Given the description of an element on the screen output the (x, y) to click on. 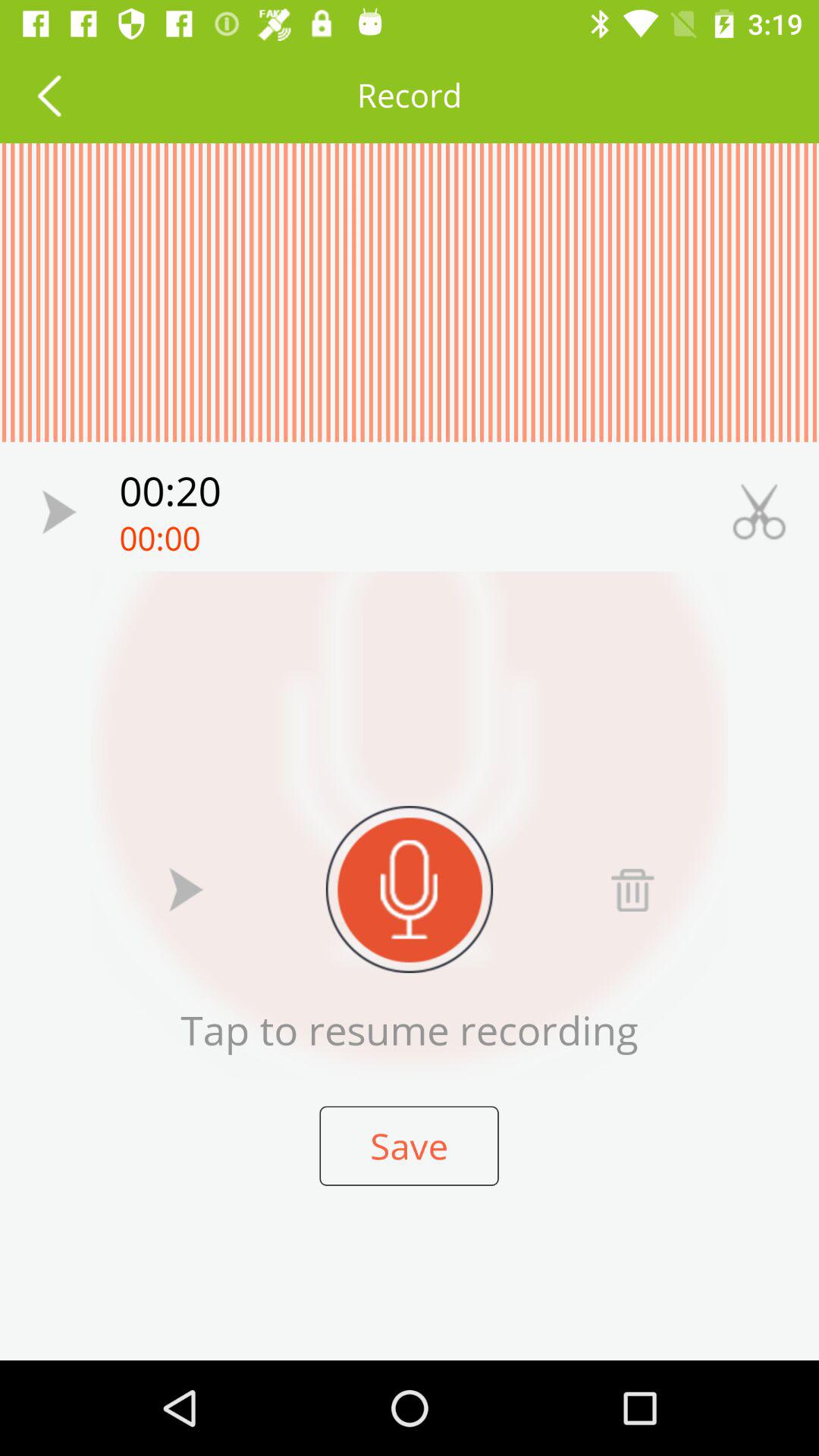
jump until save (408, 1145)
